Given the description of an element on the screen output the (x, y) to click on. 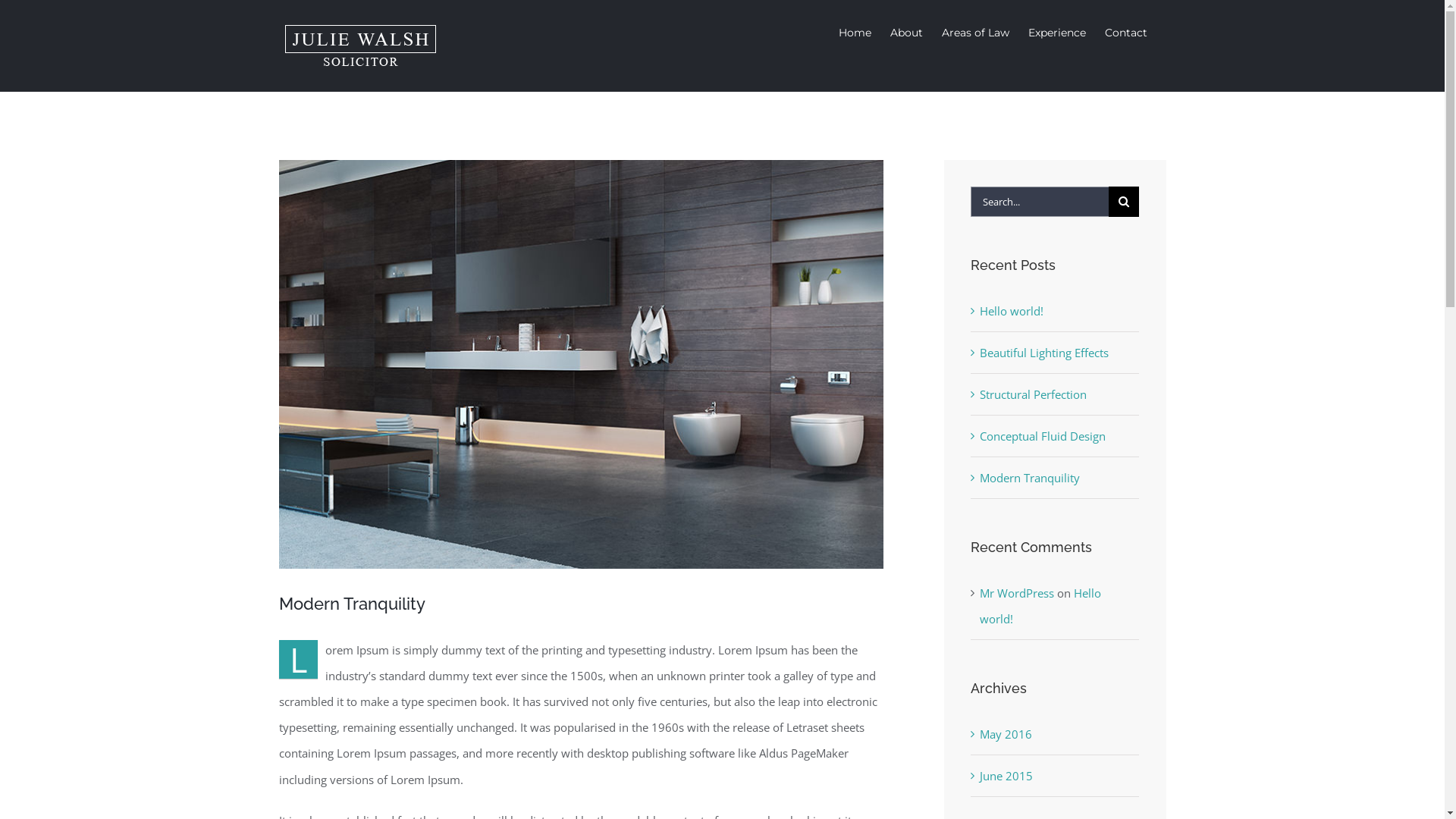
Conceptual Fluid Design Element type: text (1042, 435)
Hello world! Element type: text (1040, 605)
June 2015 Element type: text (1005, 775)
Hello world! Element type: text (1011, 310)
Areas of Law Element type: text (975, 31)
May 2016 Element type: text (1005, 733)
About Element type: text (906, 31)
Modern Tranquility Element type: text (1029, 477)
Beautiful Lighting Effects Element type: text (1043, 352)
Structural Perfection Element type: text (1032, 393)
Home Element type: text (854, 31)
Mr WordPress Element type: text (1016, 592)
Contact Element type: text (1125, 31)
Experience Element type: text (1056, 31)
View Larger Image Element type: text (581, 364)
